Given the description of an element on the screen output the (x, y) to click on. 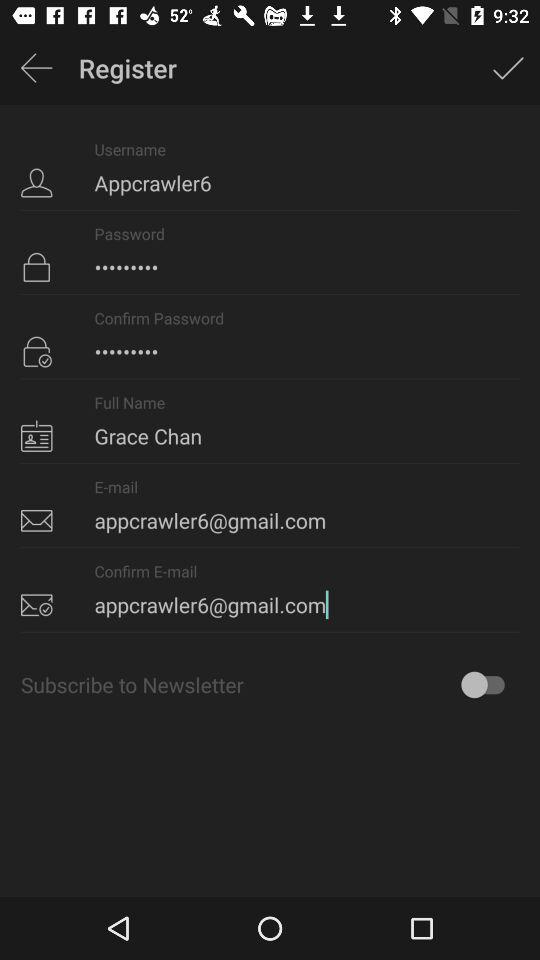
turn on icon above the appcrawler6 icon (508, 67)
